Given the description of an element on the screen output the (x, y) to click on. 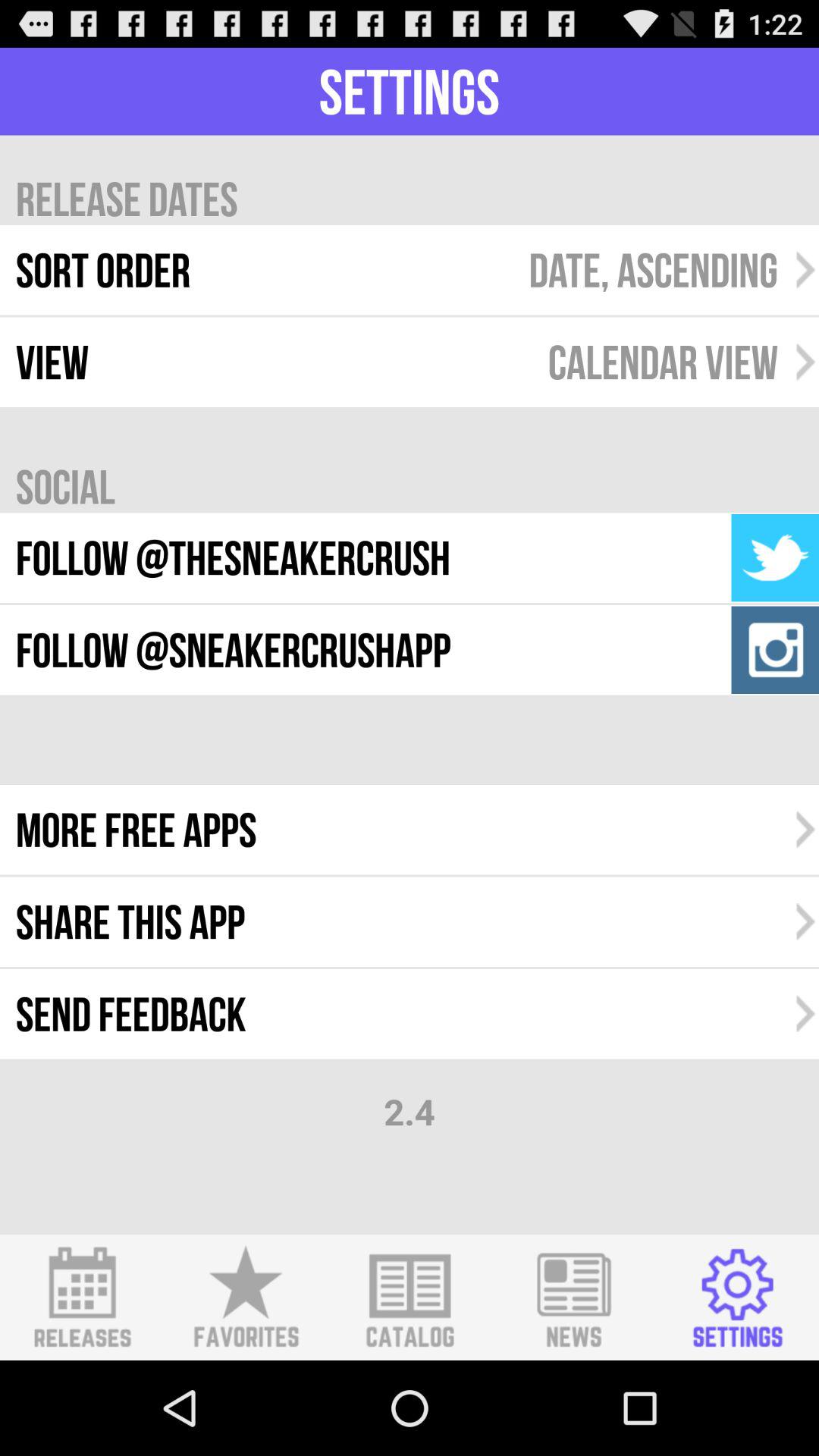
click on favorites (245, 1297)
